Given the description of an element on the screen output the (x, y) to click on. 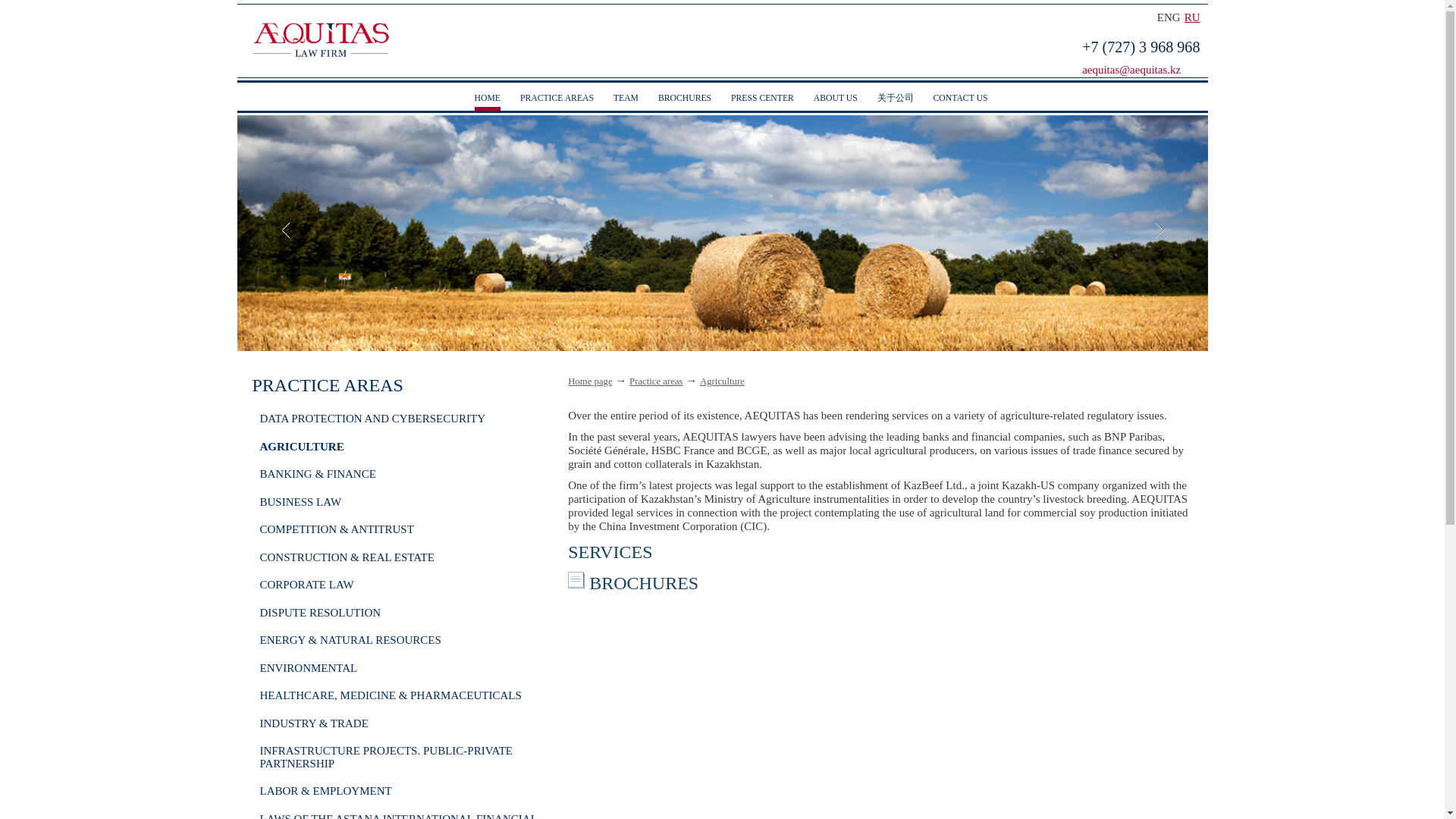
DATA PROTECTION AND CYBERSECURITY (371, 418)
LAWS OF THE ASTANA INTERNATIONAL FINANCIAL CENTRE (398, 816)
DISPUTE RESOLUTION (319, 612)
PRACTICE AREAS (327, 384)
ABOUT US (835, 98)
INFRASTRUCTURE PROJECTS. PUBLIC-PRIVATE PARTNERSHIP (385, 756)
HOME (487, 98)
ENVIRONMENTAL (307, 667)
PRACTICE AREAS (556, 98)
CORPORATE LAW (306, 584)
CONTACT US (960, 98)
Practice areas (655, 380)
BROCHURES (684, 98)
Agriculture (722, 380)
Home page (589, 380)
